Given the description of an element on the screen output the (x, y) to click on. 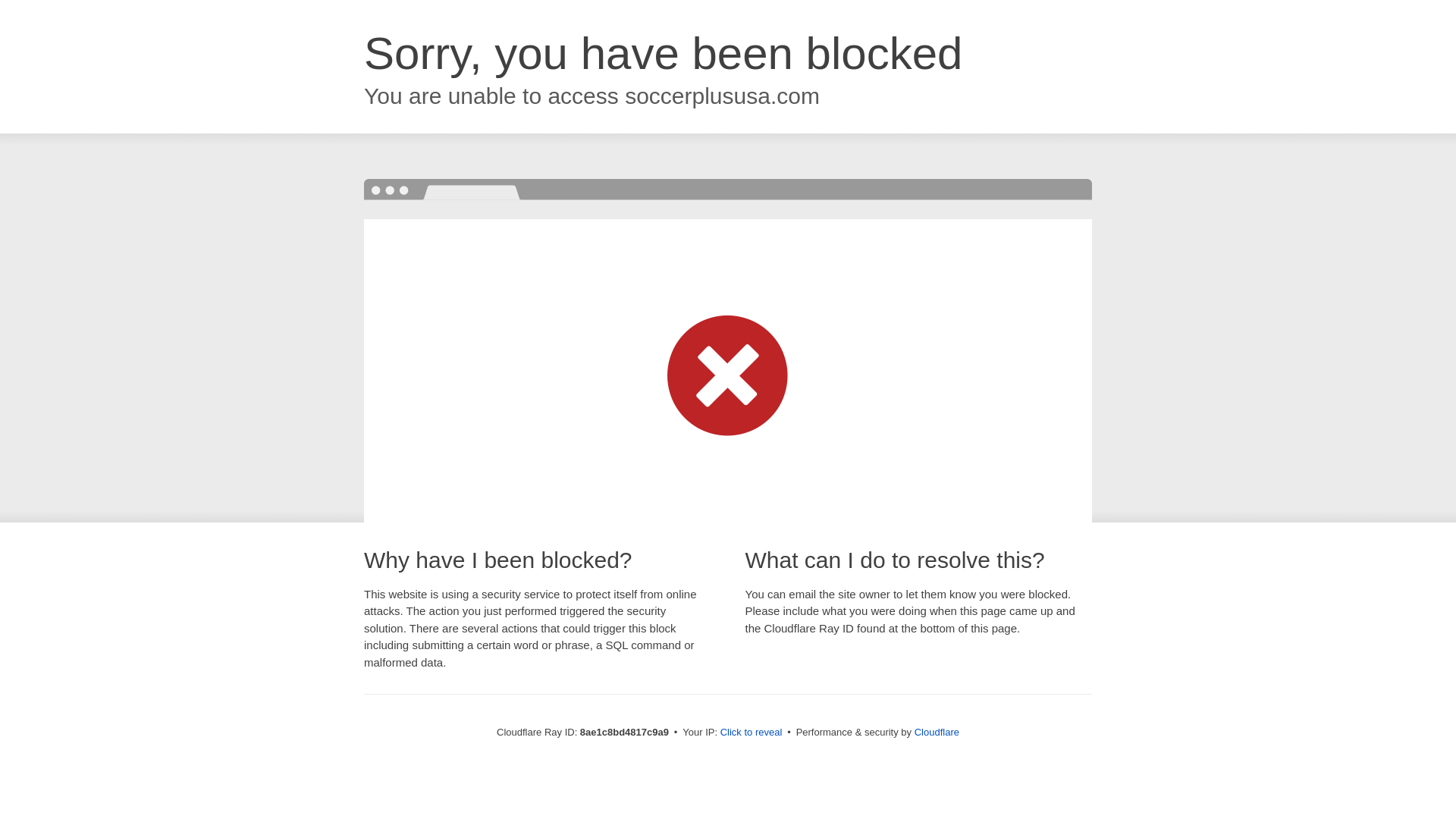
Click to reveal (751, 732)
Cloudflare (936, 731)
